Given the description of an element on the screen output the (x, y) to click on. 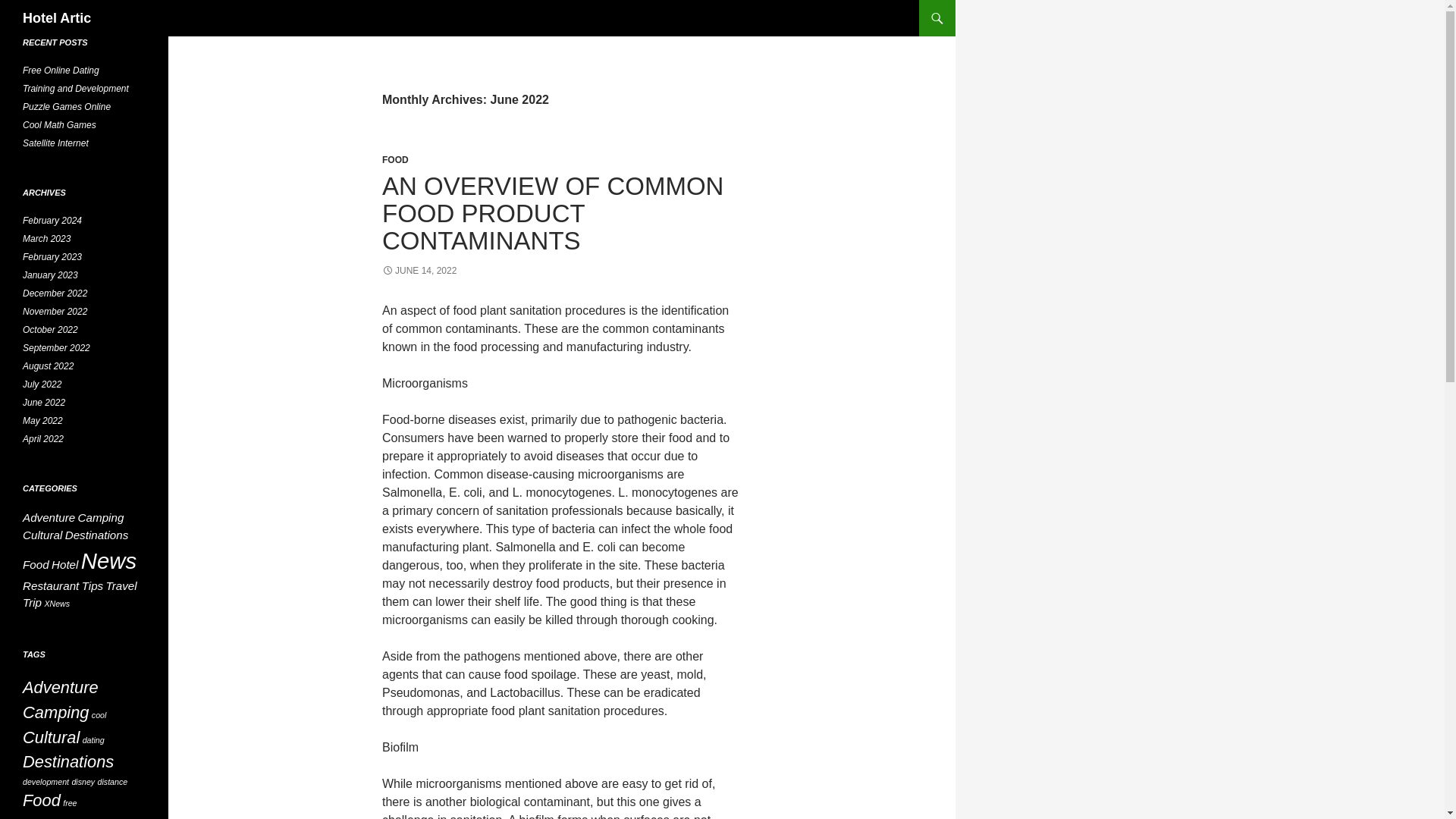
Training and Development (76, 88)
Adventure (49, 517)
September 2022 (56, 347)
December 2022 (55, 293)
Puzzle Games Online (66, 106)
Restaurant (50, 585)
Camping (100, 517)
News (108, 560)
Hotel Artic (56, 18)
Tips (92, 585)
JUNE 14, 2022 (419, 270)
Cool Math Games (59, 124)
AN OVERVIEW OF COMMON FOOD PRODUCT CONTAMINANTS (552, 212)
